Given the description of an element on the screen output the (x, y) to click on. 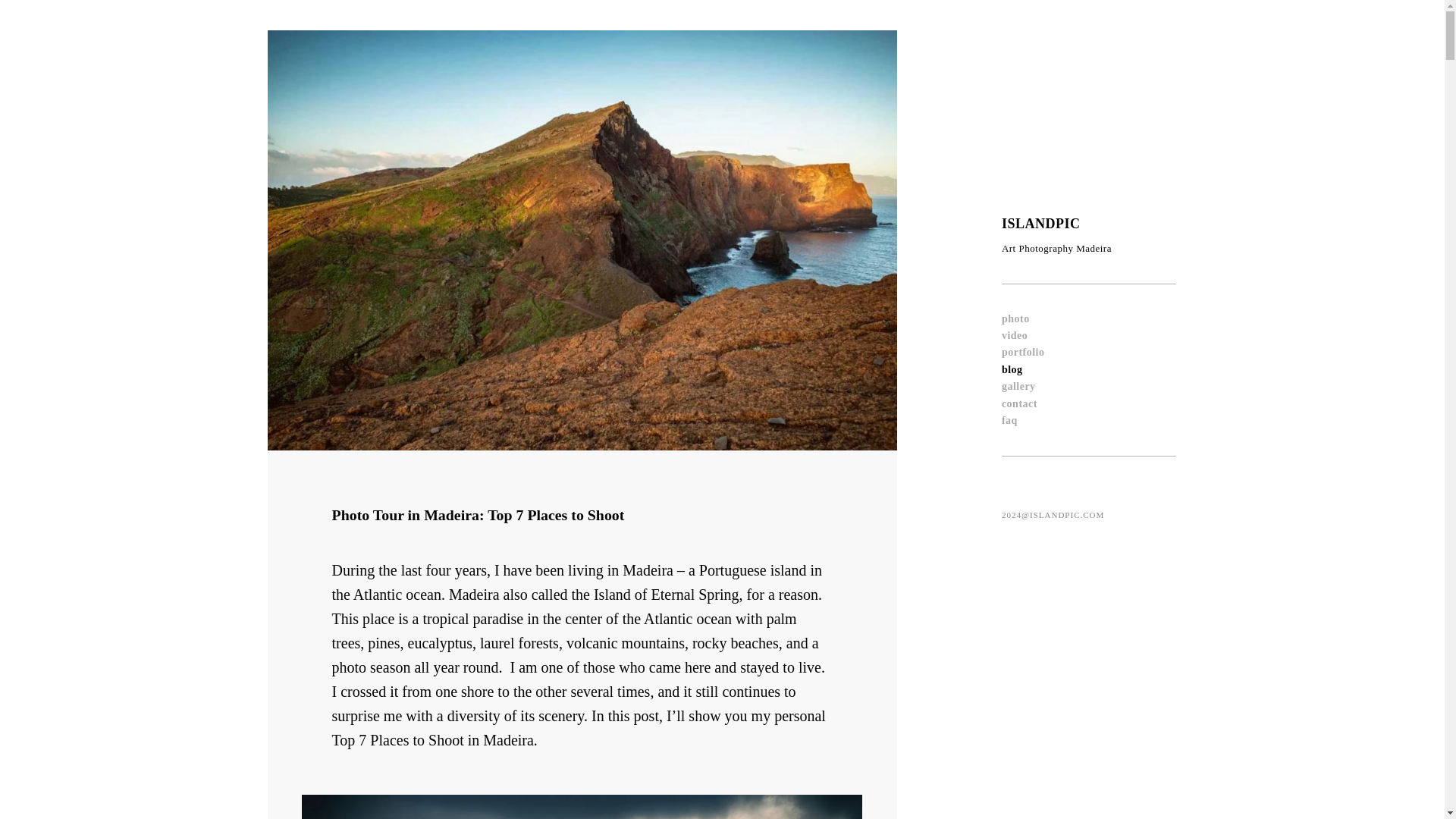
faq (1009, 419)
ISLANDPIC (1040, 223)
gallery (1018, 386)
video (1014, 335)
photo (1015, 318)
blog (1012, 369)
contact (1018, 403)
portfolio (1023, 351)
